Given the description of an element on the screen output the (x, y) to click on. 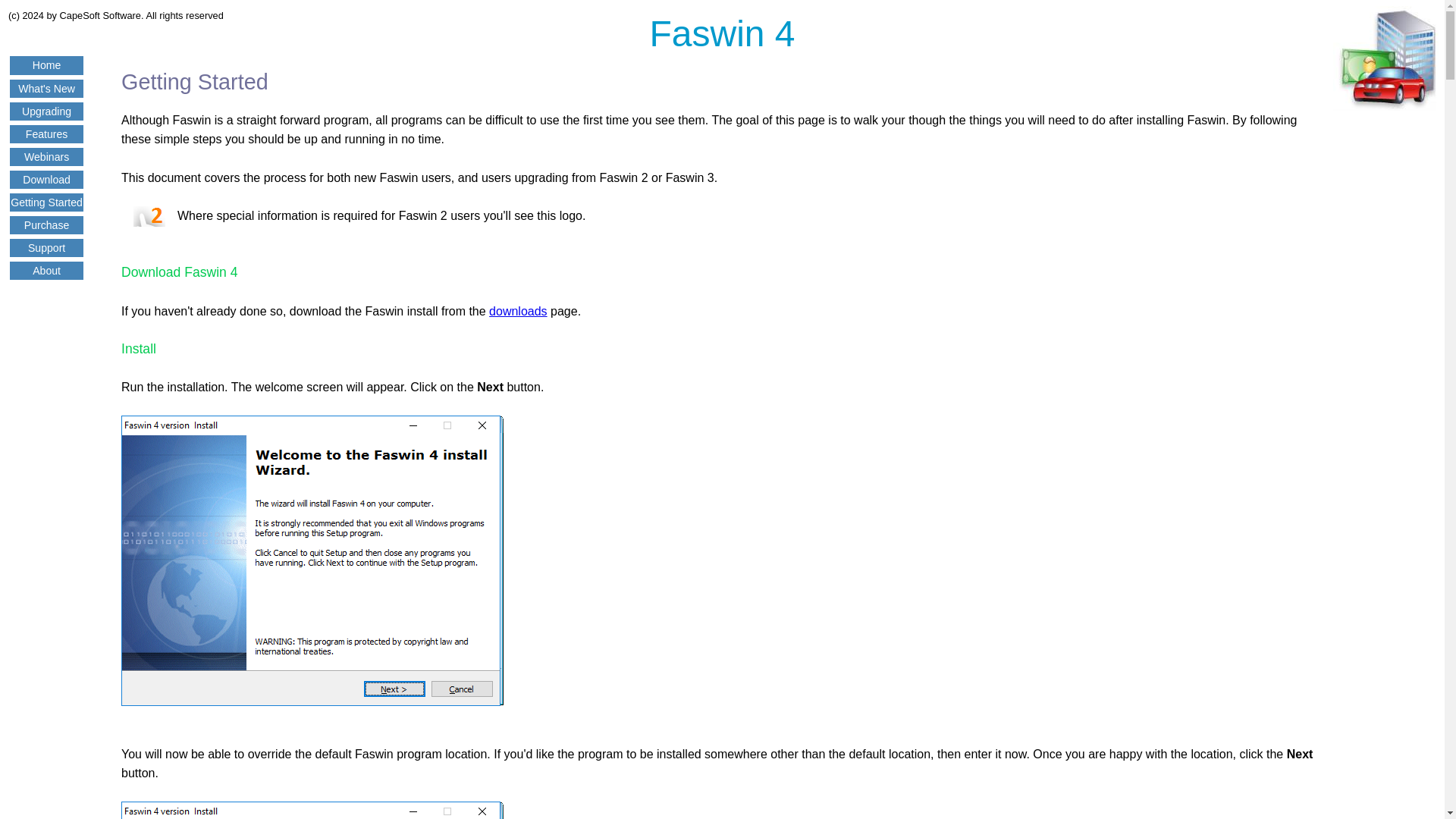
Features (47, 133)
Support (46, 247)
Download (46, 179)
What's New (46, 87)
Webinars (46, 156)
Getting Started (46, 202)
downloads (518, 310)
Upgrading (46, 111)
Home (46, 64)
Purchase (46, 224)
About (46, 270)
